Given the description of an element on the screen output the (x, y) to click on. 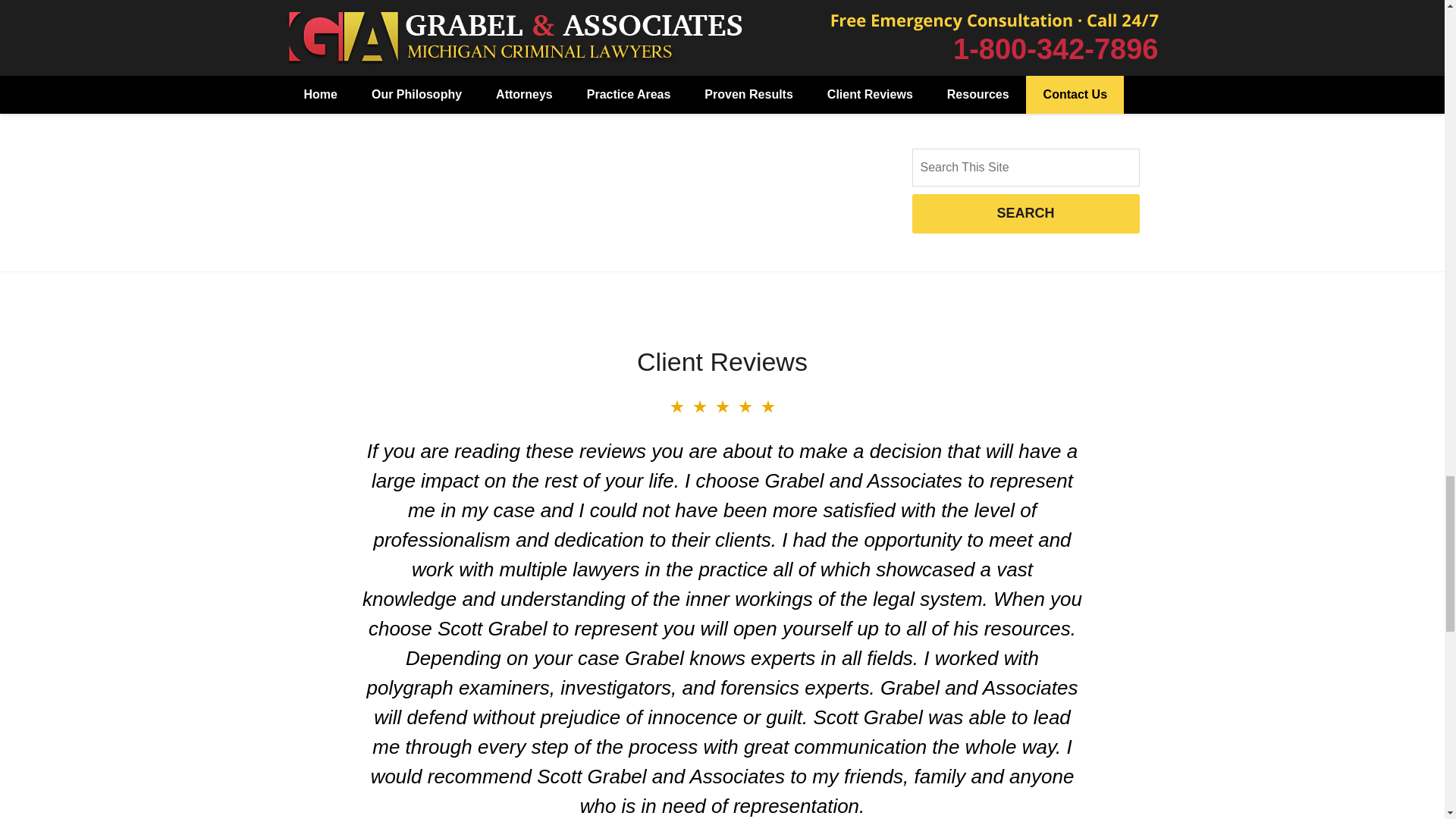
Search (1024, 167)
